Given the description of an element on the screen output the (x, y) to click on. 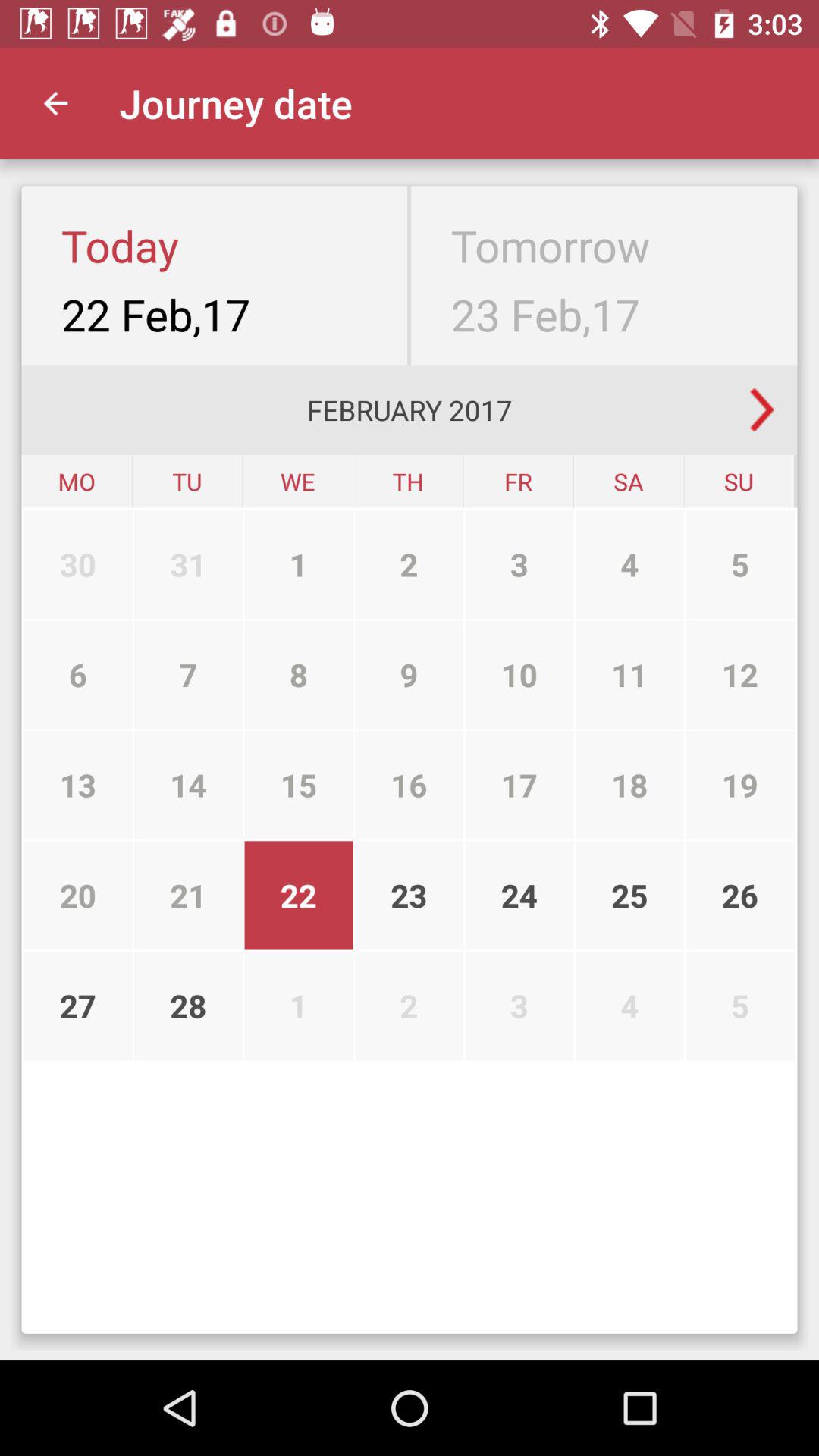
select the 19 item (739, 784)
